Given the description of an element on the screen output the (x, y) to click on. 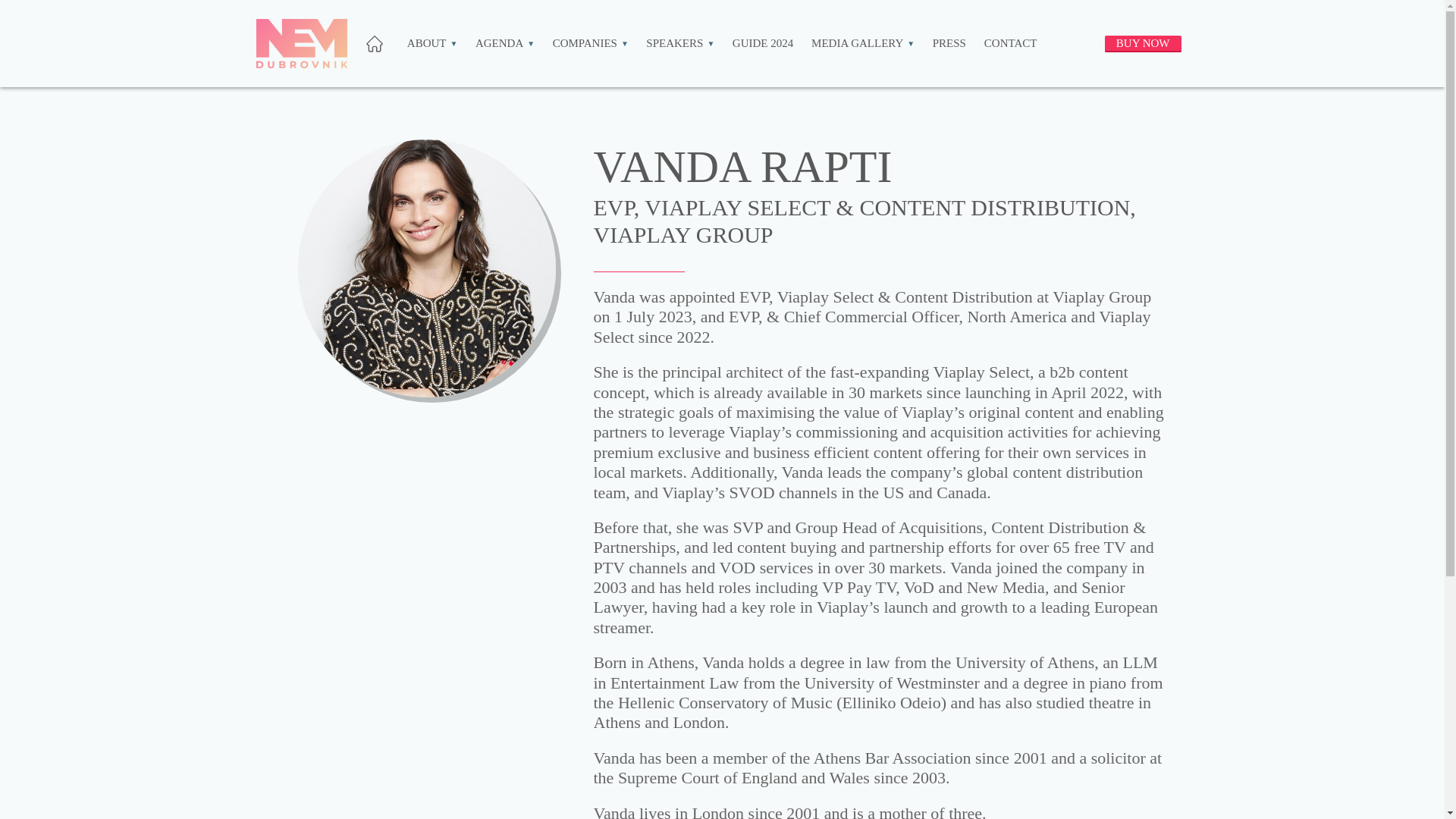
BUY NOW (1142, 44)
ABOUT (432, 42)
SPEAKERS (680, 42)
PRESS (949, 42)
CONTACT (1010, 42)
GUIDE 2024 (762, 42)
AGENDA (505, 42)
Vanda Rapti (425, 268)
COMPANIES (590, 42)
MEDIA GALLERY (862, 42)
